Given the description of an element on the screen output the (x, y) to click on. 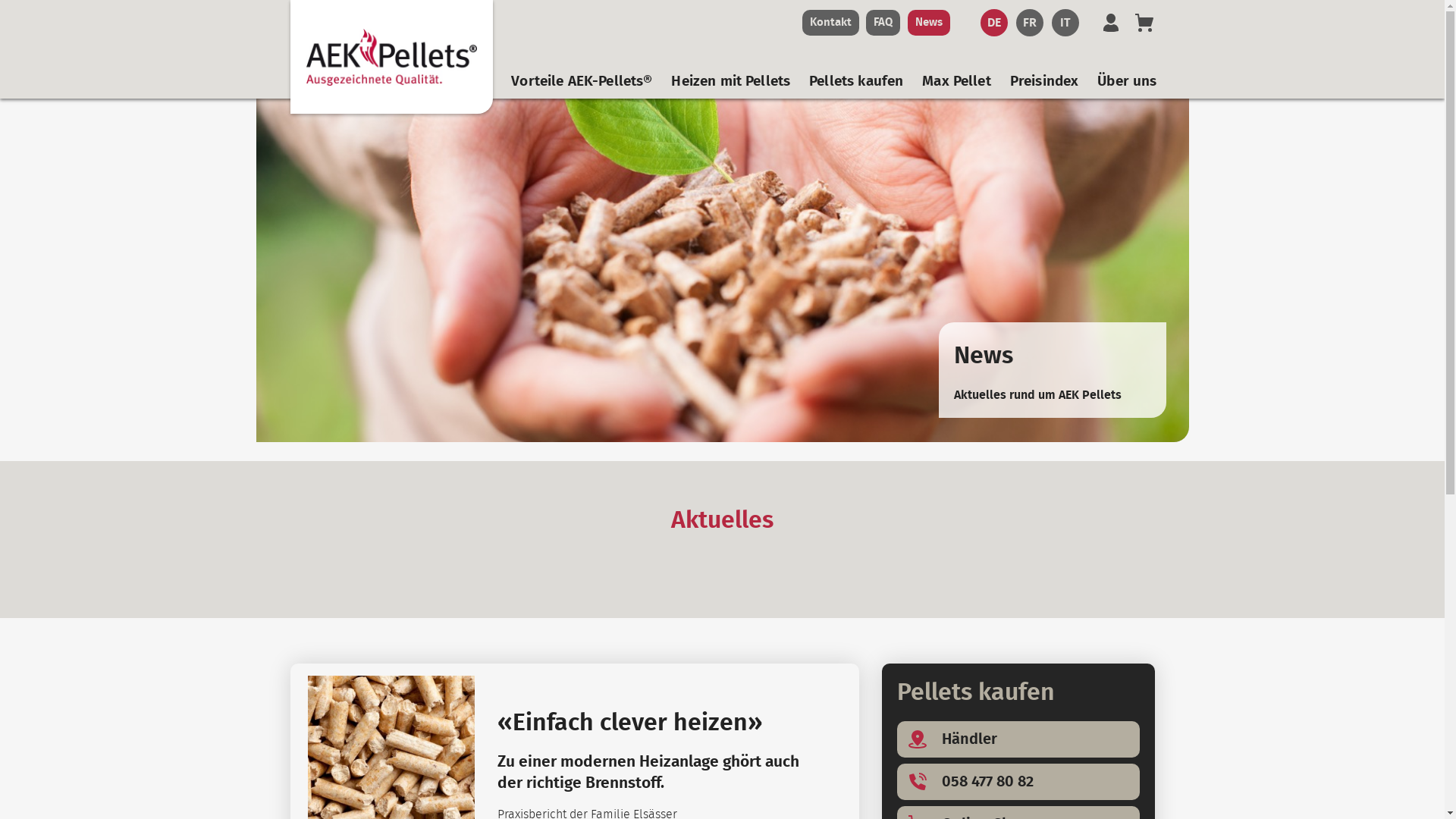
Pellets kaufen Element type: text (856, 82)
FAQ Element type: text (883, 22)
DE Element type: text (993, 22)
058 477 80 82 Element type: text (1017, 781)
IT Element type: text (1064, 22)
Preisindex Element type: text (1044, 82)
Max Pellet Element type: text (956, 82)
Kontakt Element type: text (830, 22)
Heizen mit Pellets Element type: text (730, 82)
FR Element type: text (1029, 22)
News Element type: text (927, 22)
